Given the description of an element on the screen output the (x, y) to click on. 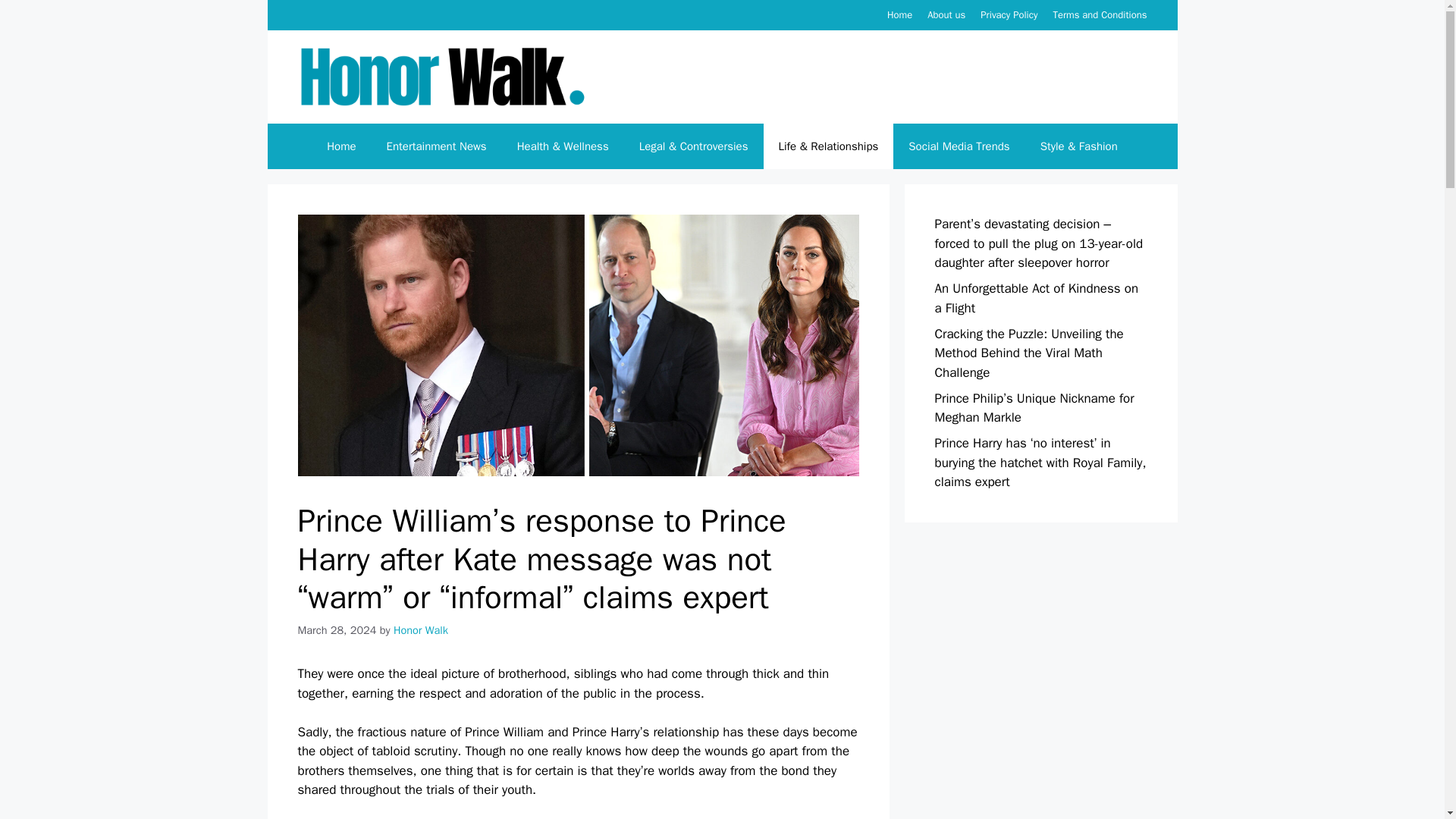
Terms and Conditions (1099, 14)
Home (899, 14)
Entertainment News (436, 145)
An Unforgettable Act of Kindness on a Flight (1036, 298)
View all posts by Honor Walk (420, 630)
Privacy Policy (1007, 14)
About us (946, 14)
Honor Walk (420, 630)
Home (341, 145)
Social Media Trends (959, 145)
